Given the description of an element on the screen output the (x, y) to click on. 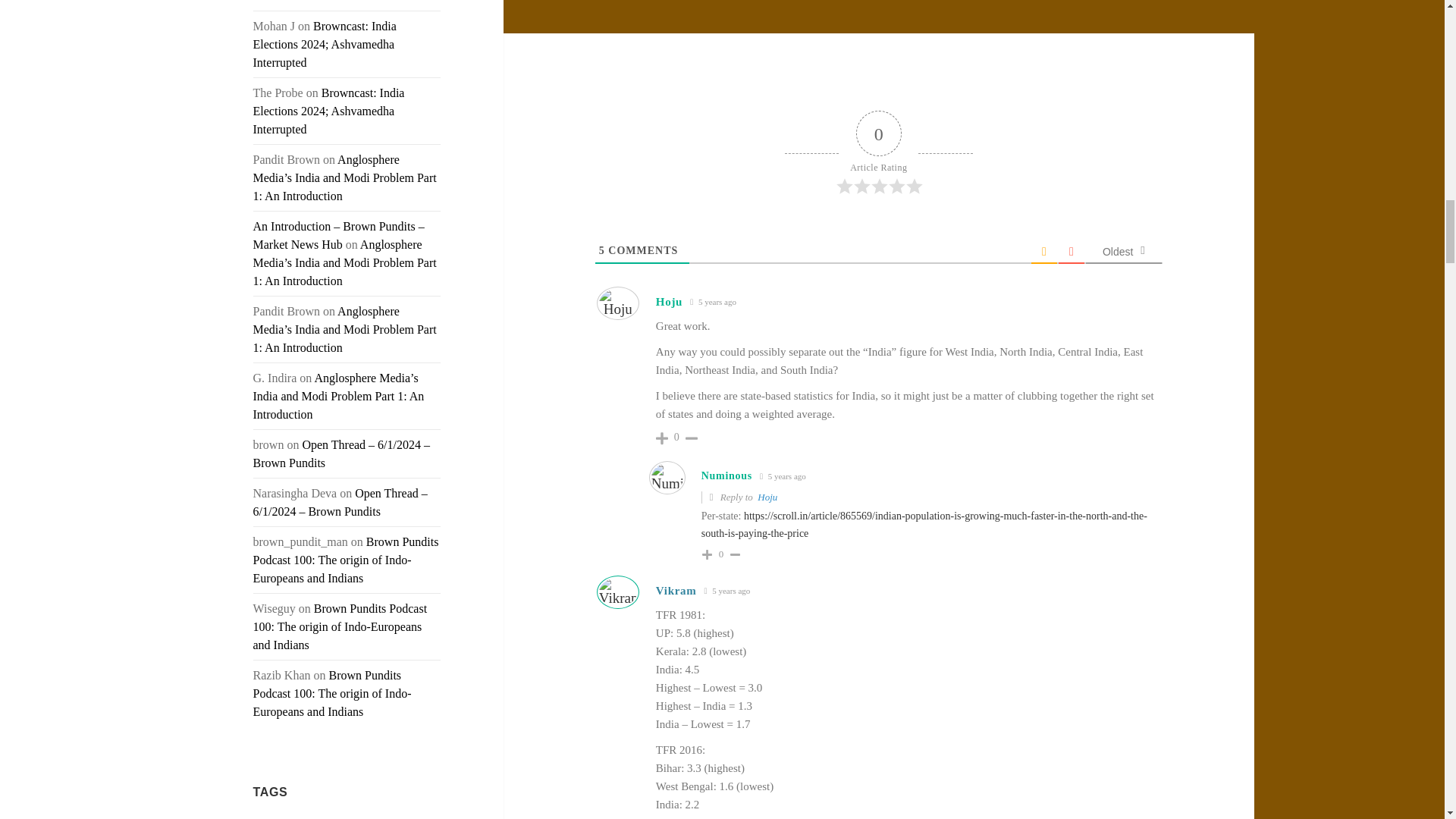
May 26, 2019 10:16 pm (712, 301)
0 (721, 553)
0 (676, 437)
May 26, 2019 11:19 pm (727, 590)
May 26, 2019 10:22 pm (782, 476)
